Given the description of an element on the screen output the (x, y) to click on. 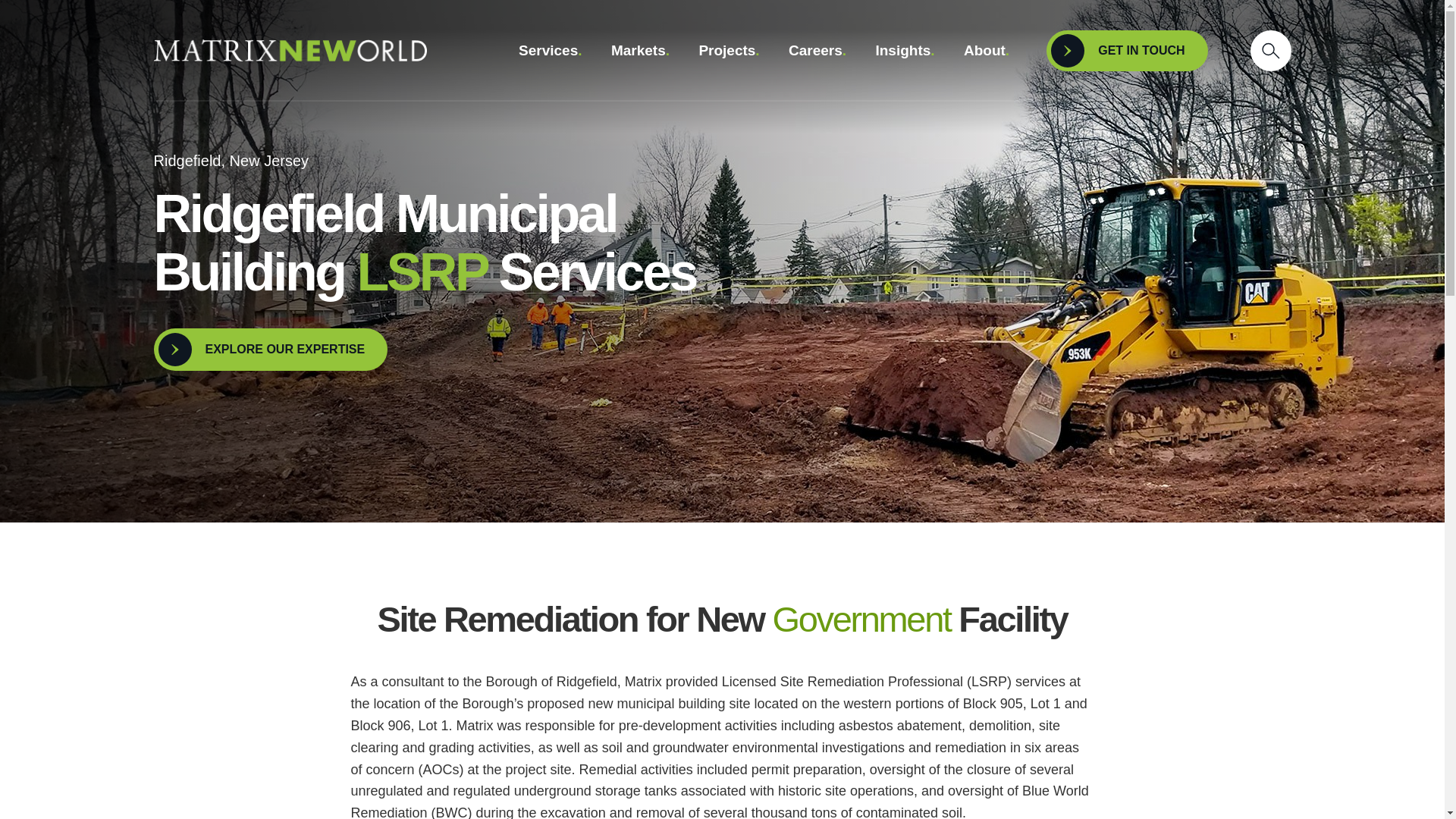
Projects (729, 51)
GET IN TOUCH (1126, 50)
About (987, 51)
Open Search (1269, 50)
Insights (904, 51)
Services (549, 51)
Markets (640, 51)
EXPLORE OUR EXPERTISE (269, 349)
Careers (817, 51)
